Given the description of an element on the screen output the (x, y) to click on. 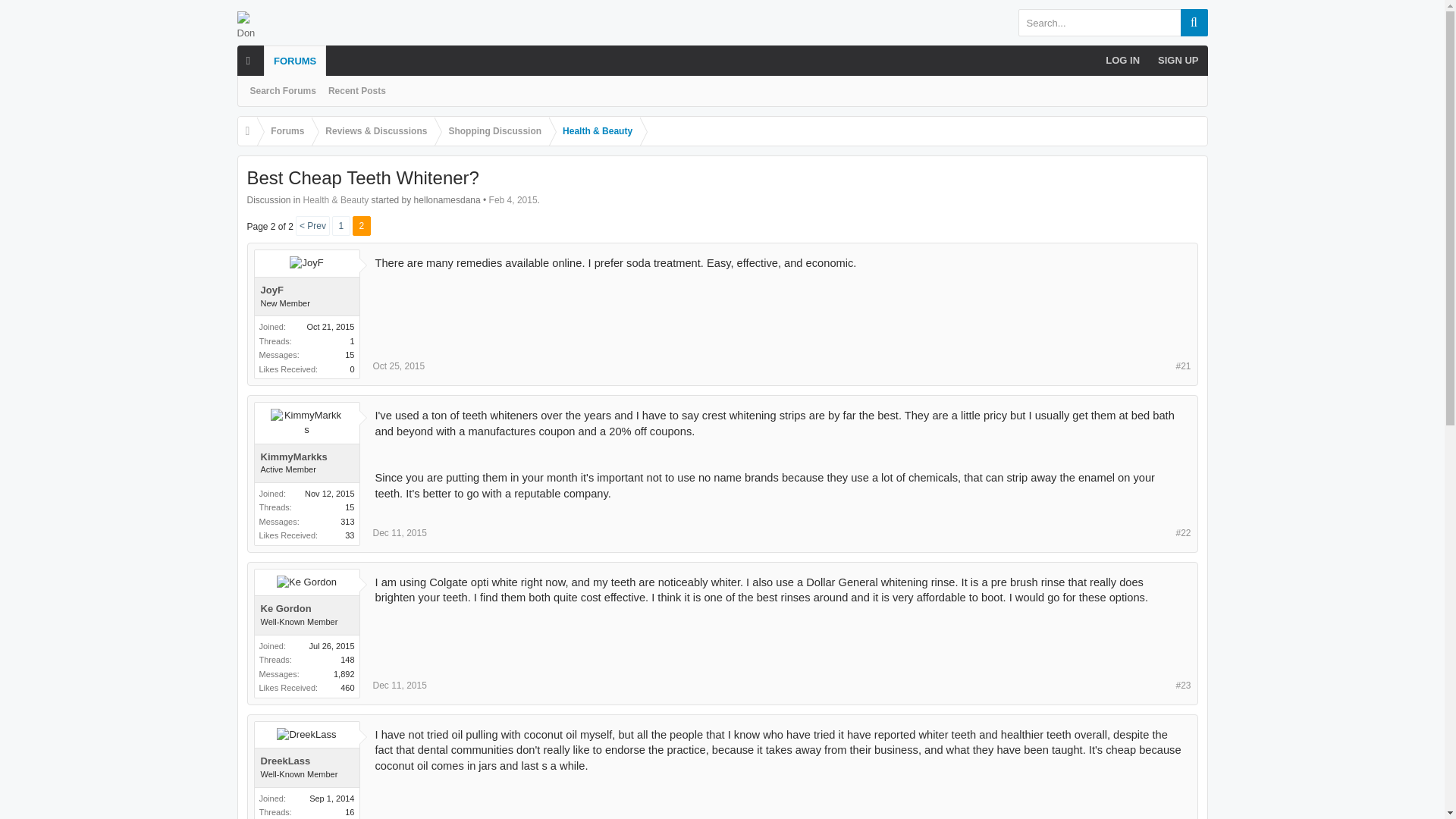
Enter your search and hit enter (1112, 22)
Feb 4, 2015 at 03:46 (513, 199)
FRIENDS DON'T LET FRIENDS PAY FULL (343, 55)
Forums (284, 131)
Permalink (399, 685)
Recent Posts (356, 91)
Search Forums (282, 91)
Permalink (1182, 685)
Permalink (1182, 366)
Permalink (1182, 533)
